Given the description of an element on the screen output the (x, y) to click on. 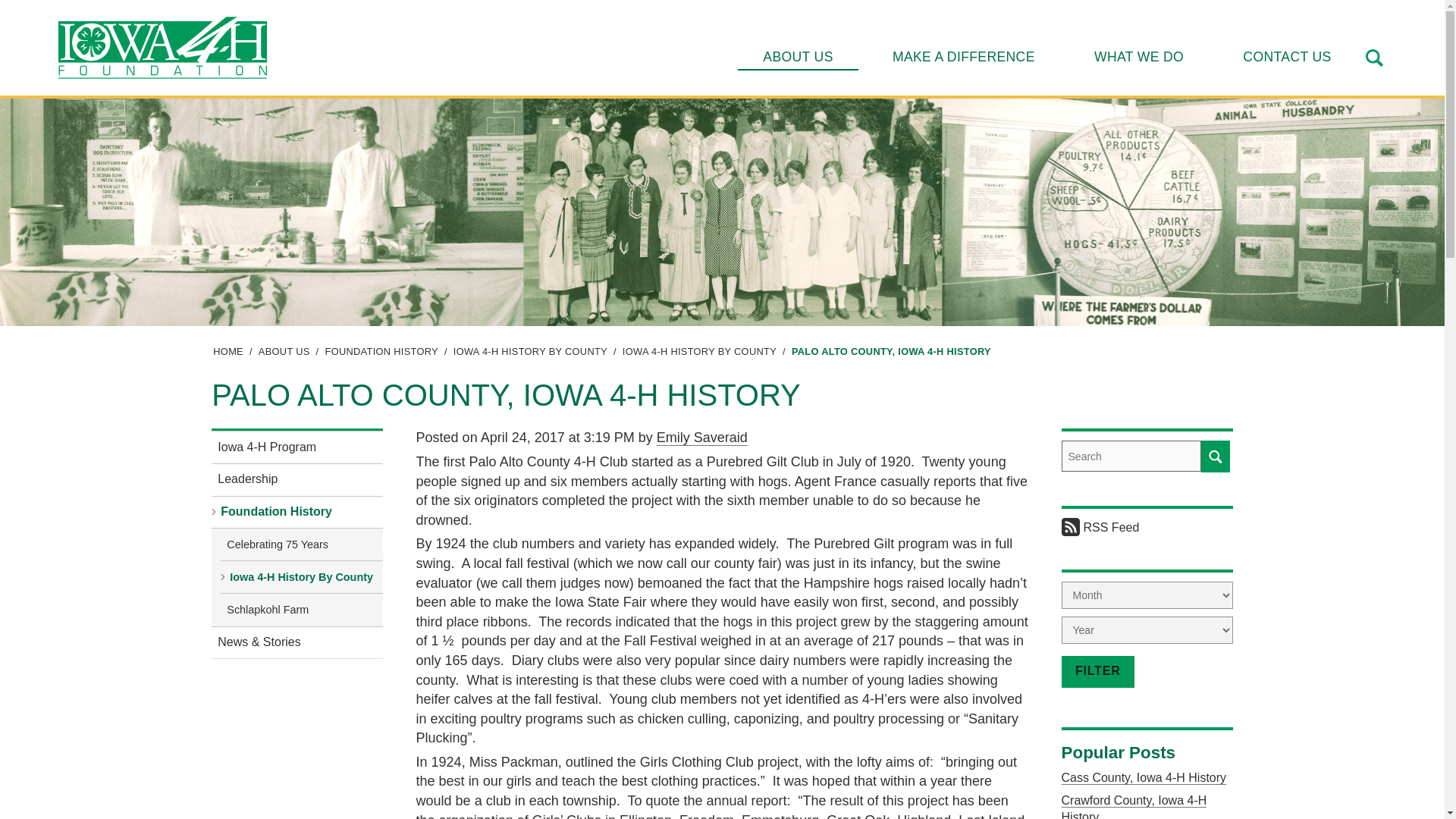
WHAT WE DO (1138, 56)
MAKE A DIFFERENCE (962, 56)
CONTACT US (1286, 56)
ABOUT US (798, 56)
